Given the description of an element on the screen output the (x, y) to click on. 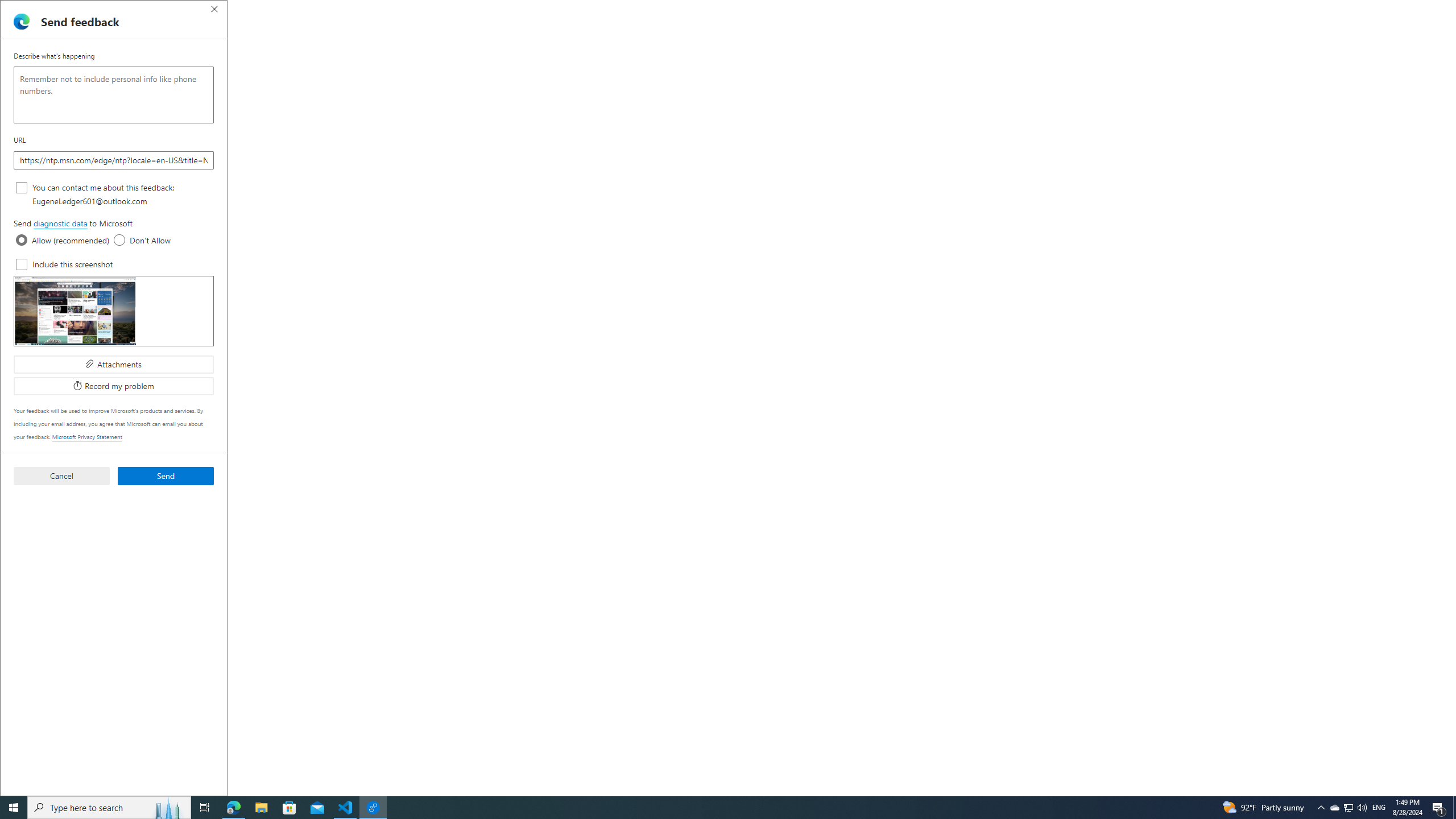
diagnostic data (60, 223)
Microsoft Privacy Statement (87, 436)
Describe what's happening (113, 94)
Cancel (61, 475)
Don't Allow (119, 240)
Record my problem (113, 385)
URL (113, 159)
Send (165, 475)
Attachments (113, 363)
Include this screenshot (21, 263)
Allow (recommended) (21, 240)
